Given the description of an element on the screen output the (x, y) to click on. 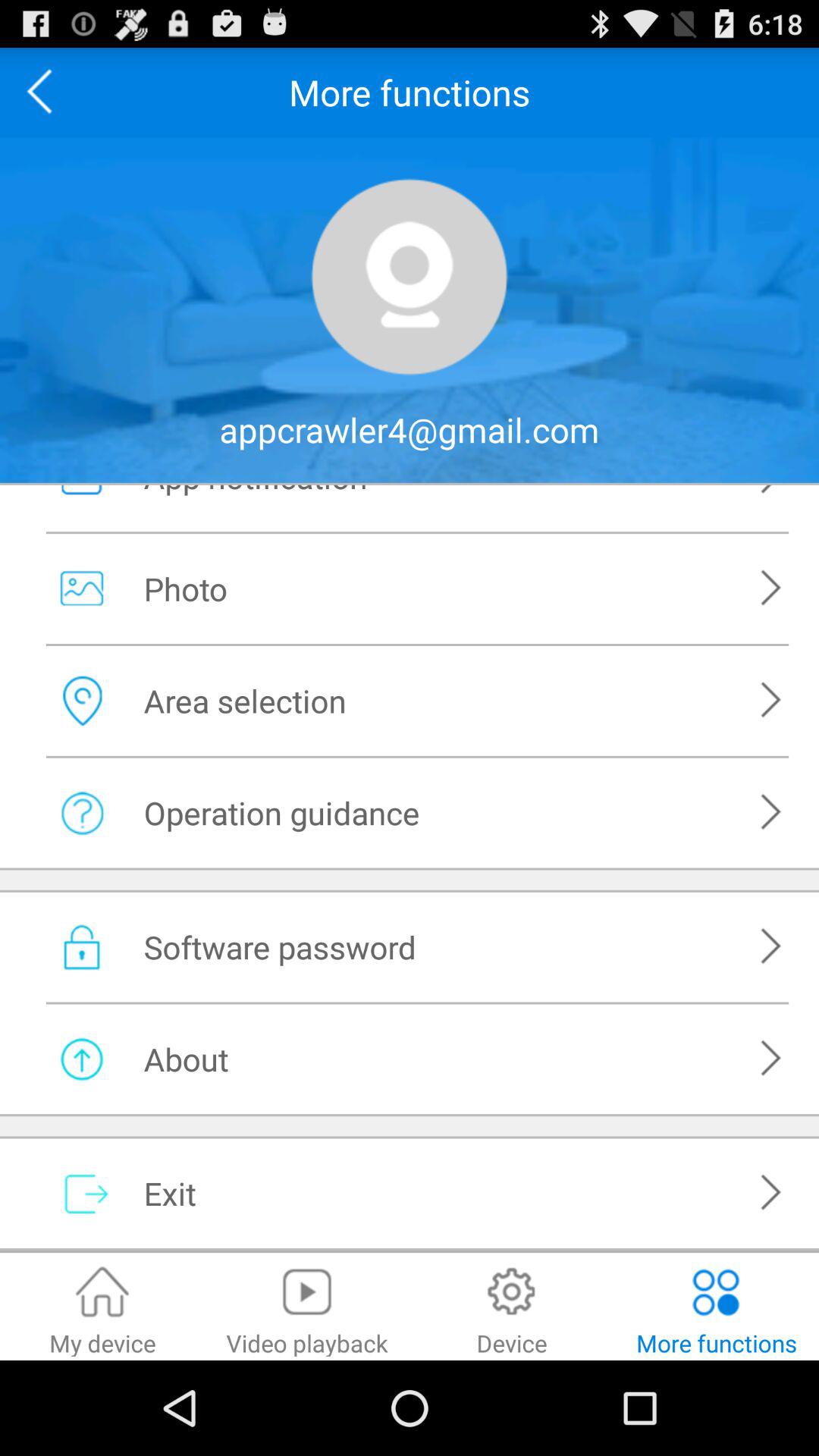
go back (44, 92)
